Given the description of an element on the screen output the (x, y) to click on. 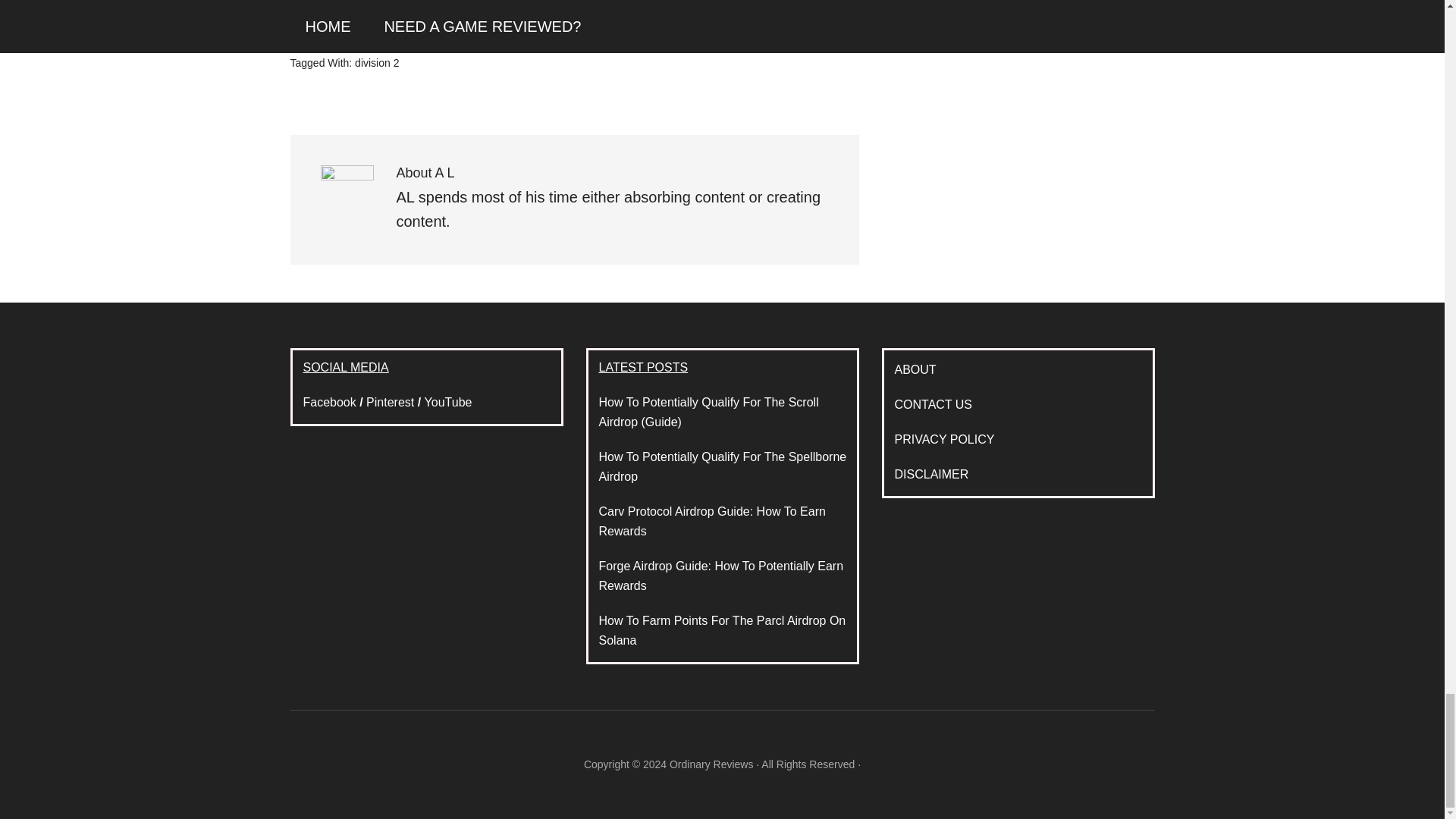
YouTube (448, 401)
division 2 (376, 62)
How To Potentially Qualify For The Spellborne Airdrop (722, 466)
Pinterest (389, 401)
Facebook (329, 401)
The Division 2 (505, 40)
Gaming (414, 40)
